Given the description of an element on the screen output the (x, y) to click on. 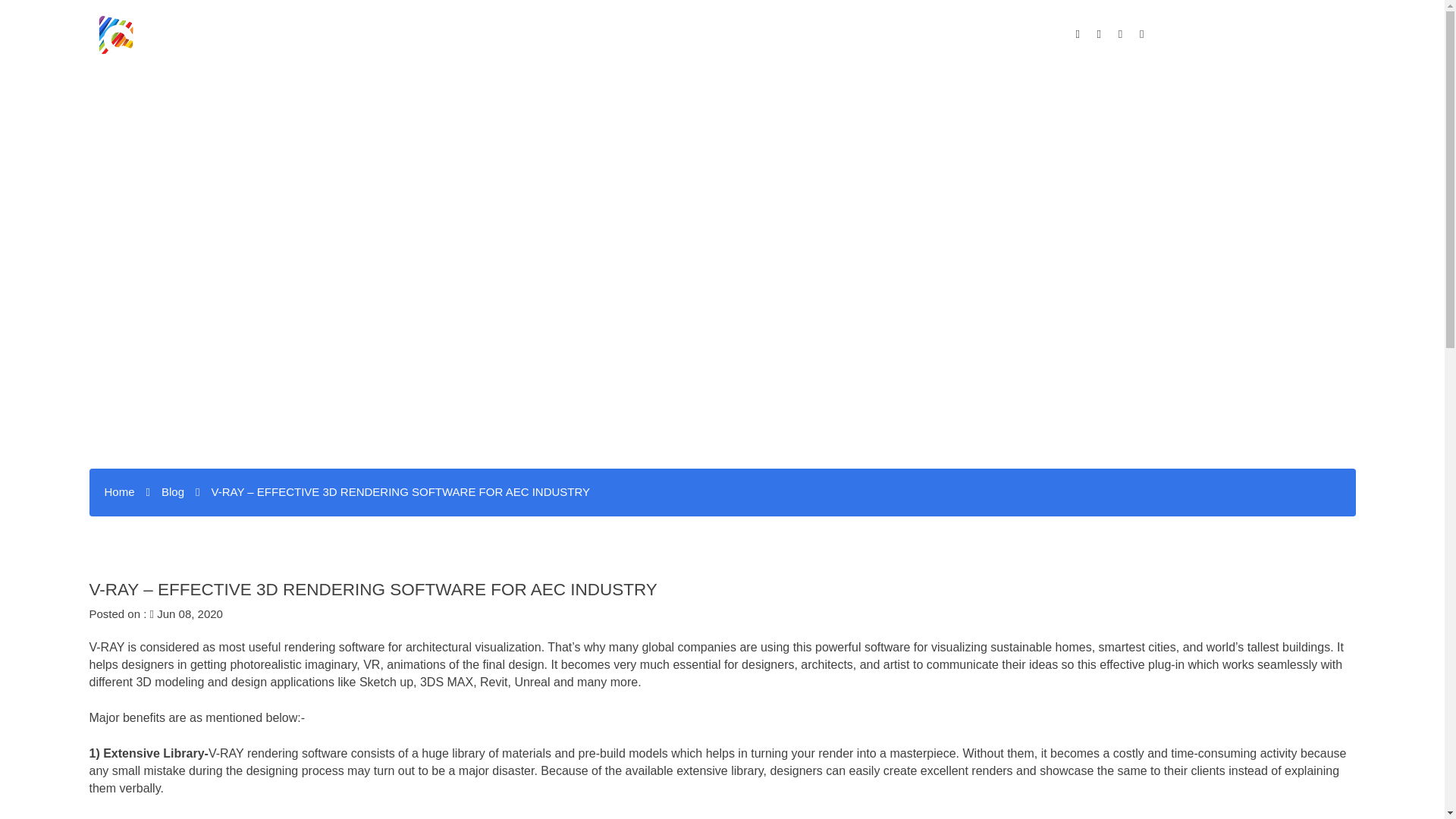
HOME (648, 90)
CREATIVE SERVICES (753, 90)
ARCHITECTURAL SERVICES (924, 90)
INDUSTRY INSIGHTS (1173, 90)
GALLERY (1059, 90)
